Given the description of an element on the screen output the (x, y) to click on. 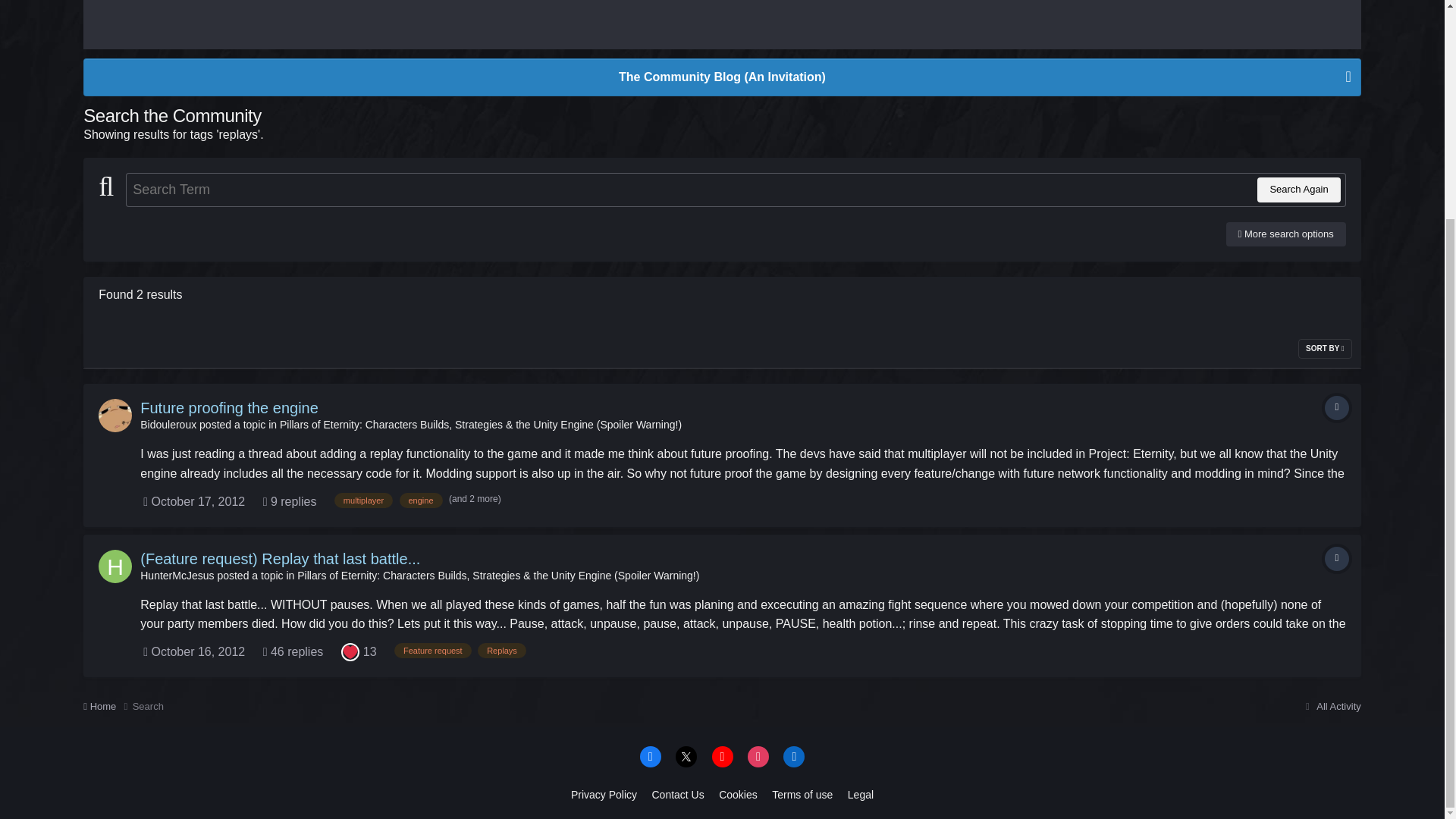
Go to HunterMcJesus's profile (176, 575)
Go to HunterMcJesus's profile (115, 566)
Topic (1336, 558)
Go to Bidouleroux's profile (115, 415)
Find other content tagged with 'multiplayer' (363, 500)
Topic (1336, 407)
Find other content tagged with 'Feature request' (432, 650)
Search Again (1298, 189)
Go to Bidouleroux's profile (167, 424)
Like (349, 651)
More search options (1285, 233)
Find other content tagged with 'engine' (420, 500)
